Given the description of an element on the screen output the (x, y) to click on. 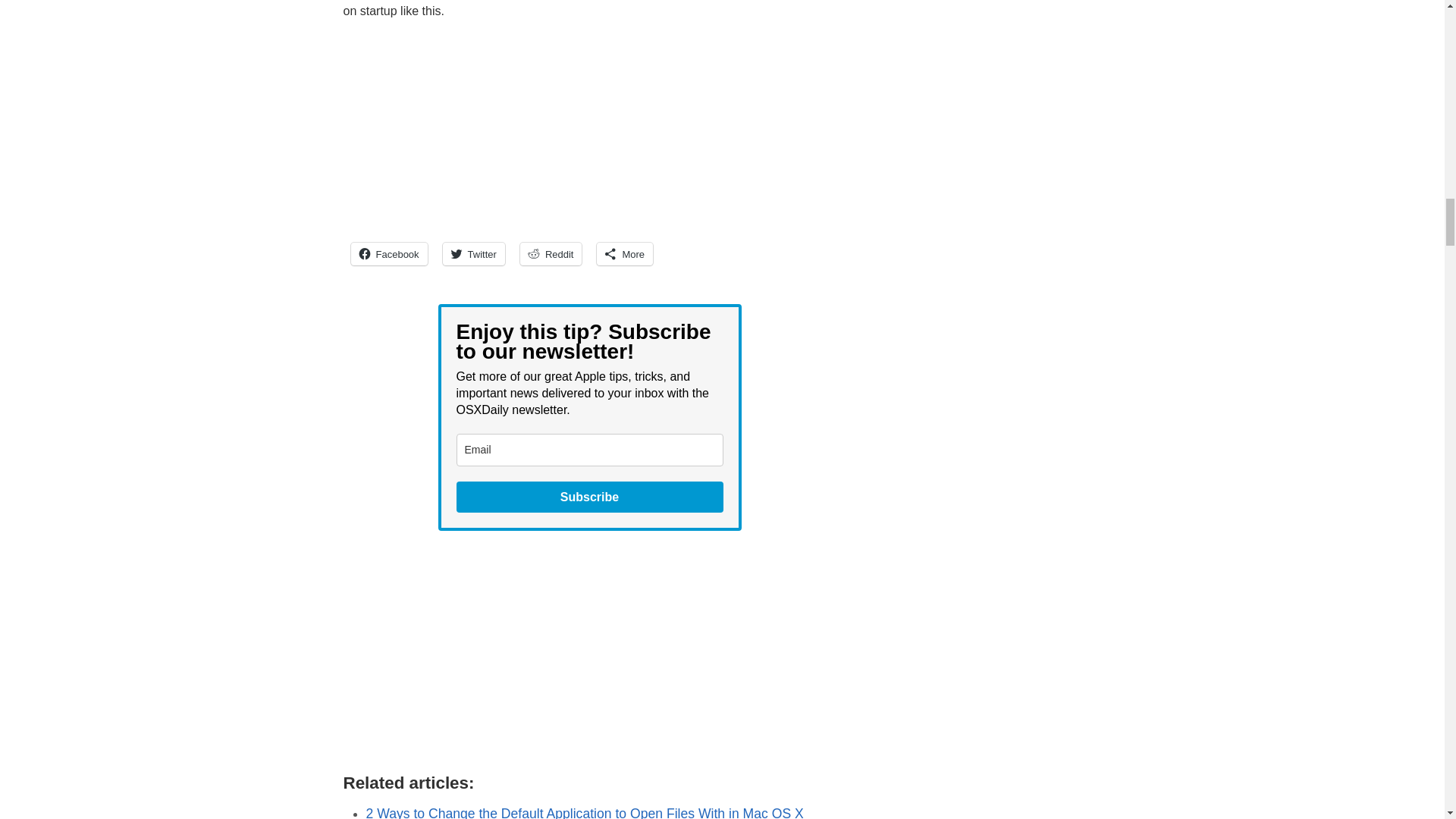
Subscribe (590, 496)
Reddit (550, 253)
Click to share on Twitter (473, 253)
Twitter (473, 253)
Click to share on Facebook (388, 253)
Click to share on Reddit (550, 253)
More (624, 253)
Facebook (388, 253)
